Given the description of an element on the screen output the (x, y) to click on. 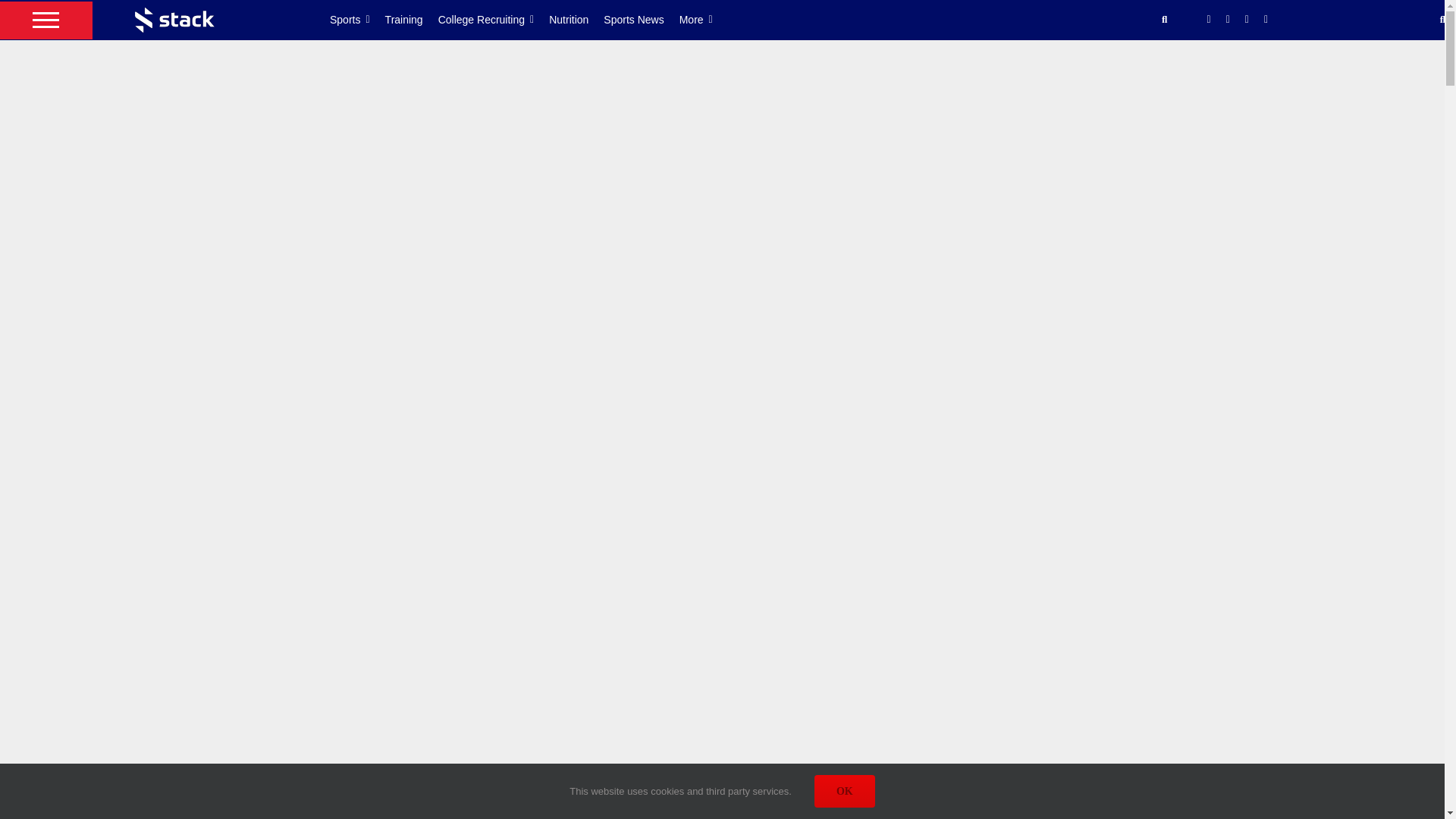
Training (411, 19)
Sports (357, 19)
Nutrition (576, 19)
Sports News (641, 19)
College Recruiting (494, 19)
More (703, 19)
